Given the description of an element on the screen output the (x, y) to click on. 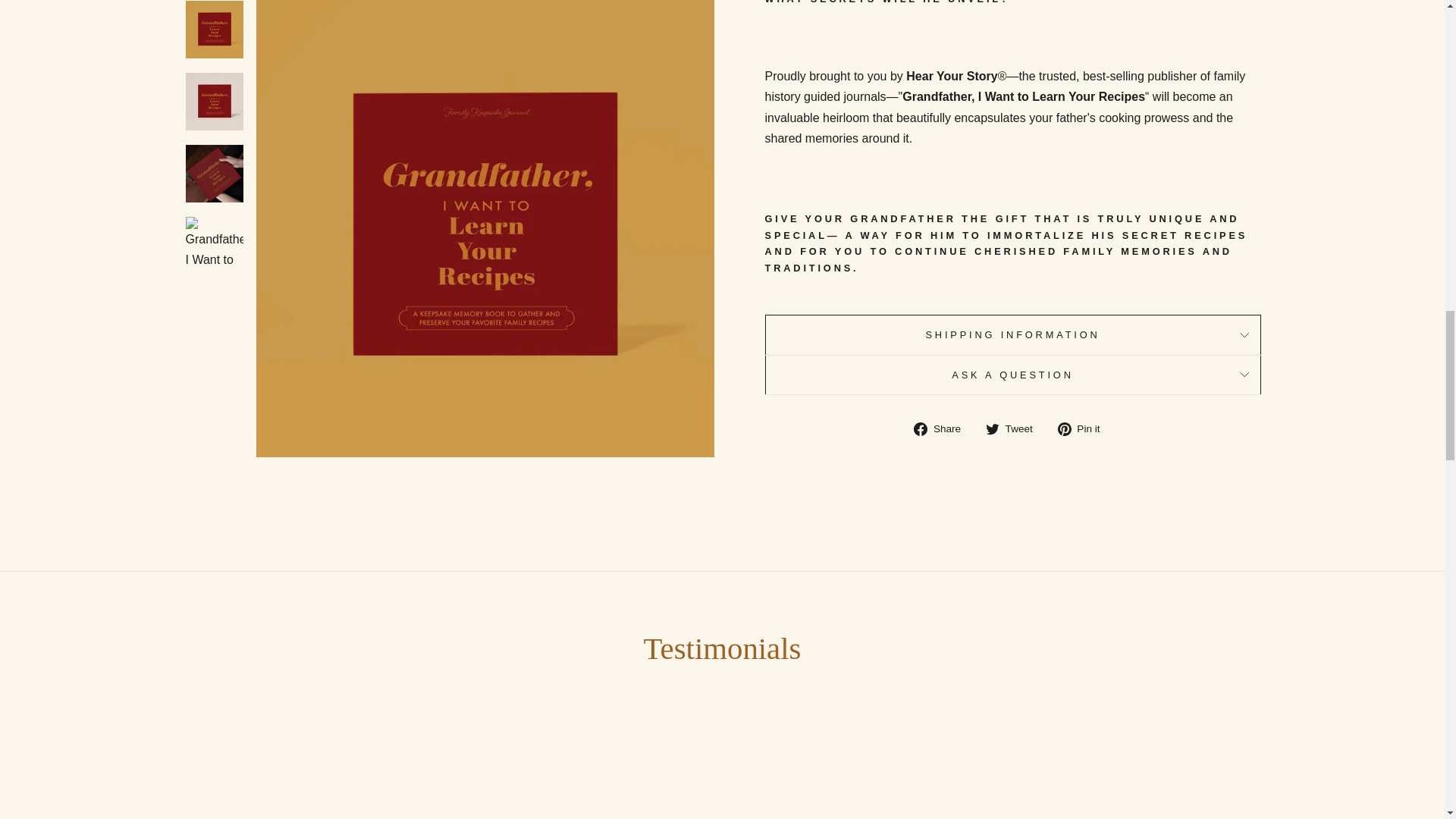
Tweet on Twitter (1014, 427)
Share on Facebook (943, 427)
Pin on Pinterest (1085, 427)
twitter (991, 428)
